Given the description of an element on the screen output the (x, y) to click on. 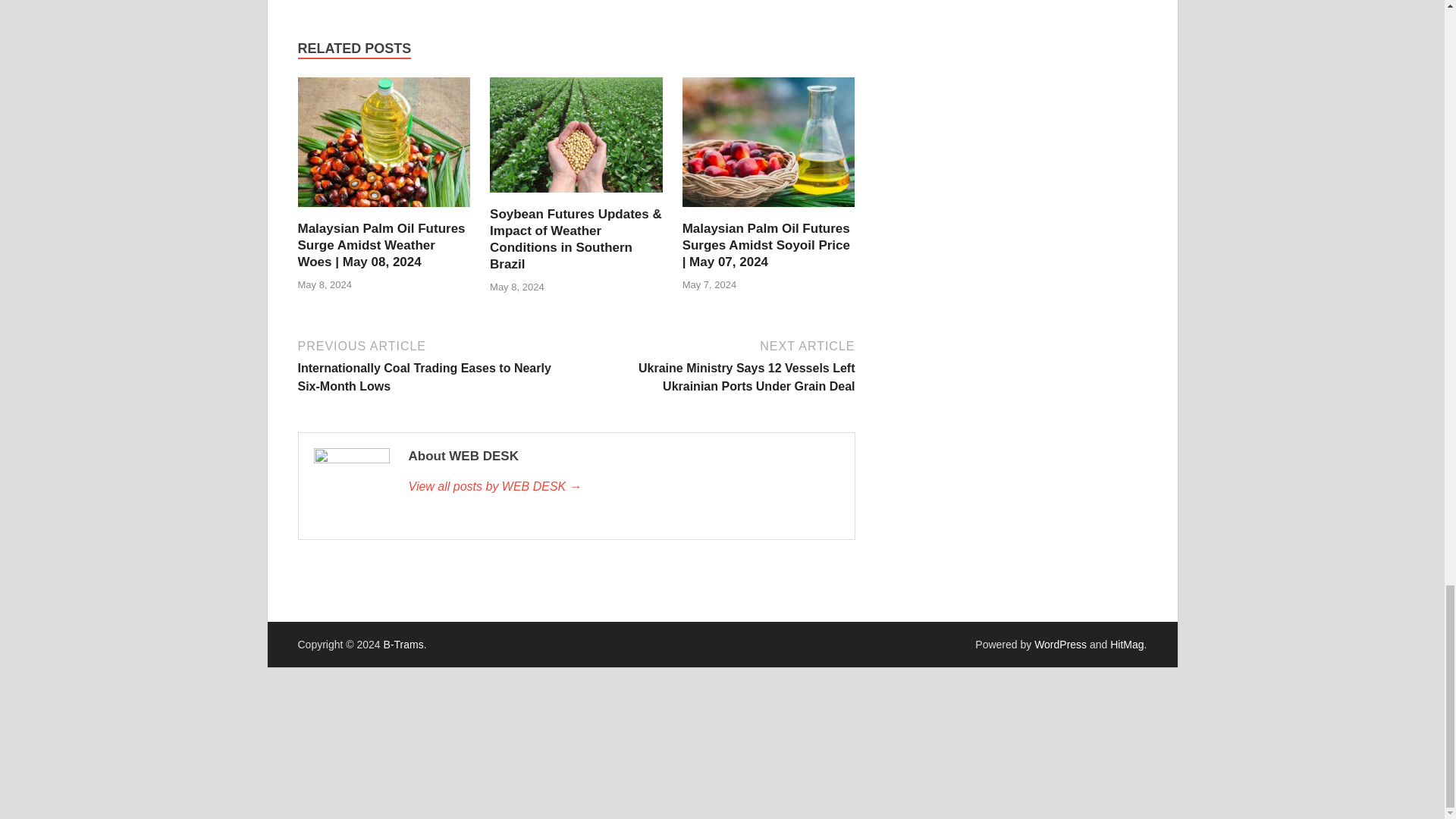
B-Trams (403, 644)
HitMag WordPress Theme (1125, 644)
WordPress (1059, 644)
WEB DESK (622, 486)
